Given the description of an element on the screen output the (x, y) to click on. 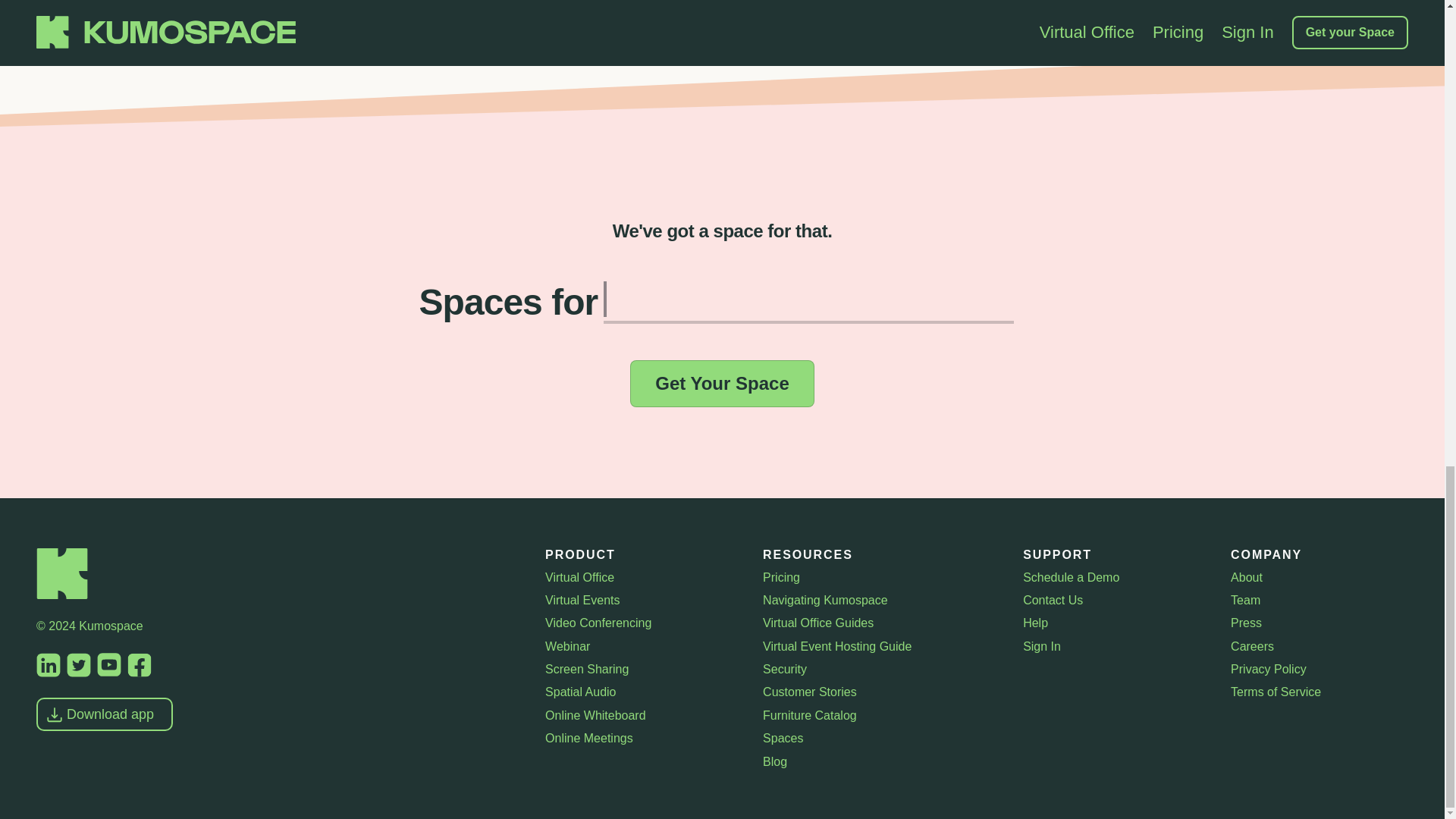
Schedule a Demo (1115, 576)
Customer Stories (880, 692)
Screen Sharing (641, 669)
Sign In (1115, 646)
About (1318, 576)
Download app (104, 714)
Help (1115, 623)
Virtual Events (641, 600)
Get Your Space (721, 383)
Spaces (880, 738)
